Given the description of an element on the screen output the (x, y) to click on. 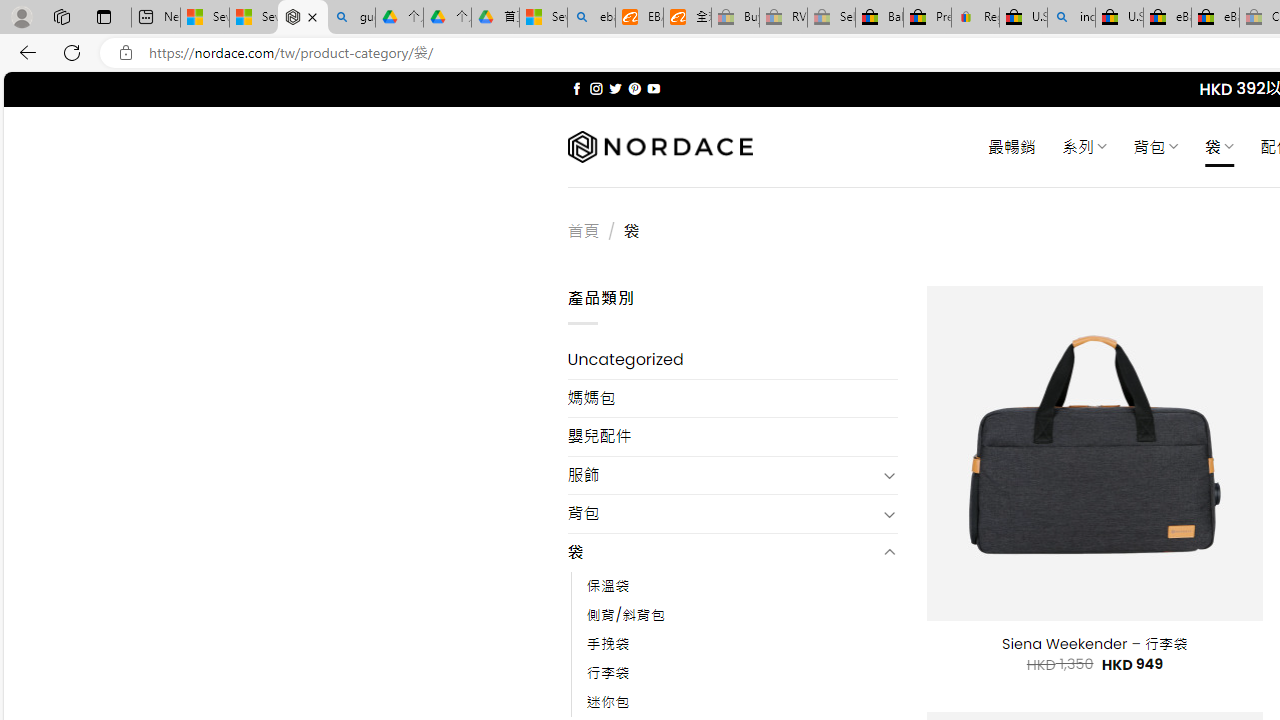
Personal Profile (21, 16)
Sell worldwide with eBay - Sleeping (831, 17)
Follow on Pinterest (634, 88)
Buy Auto Parts & Accessories | eBay - Sleeping (735, 17)
Workspaces (61, 16)
